Given the description of an element on the screen output the (x, y) to click on. 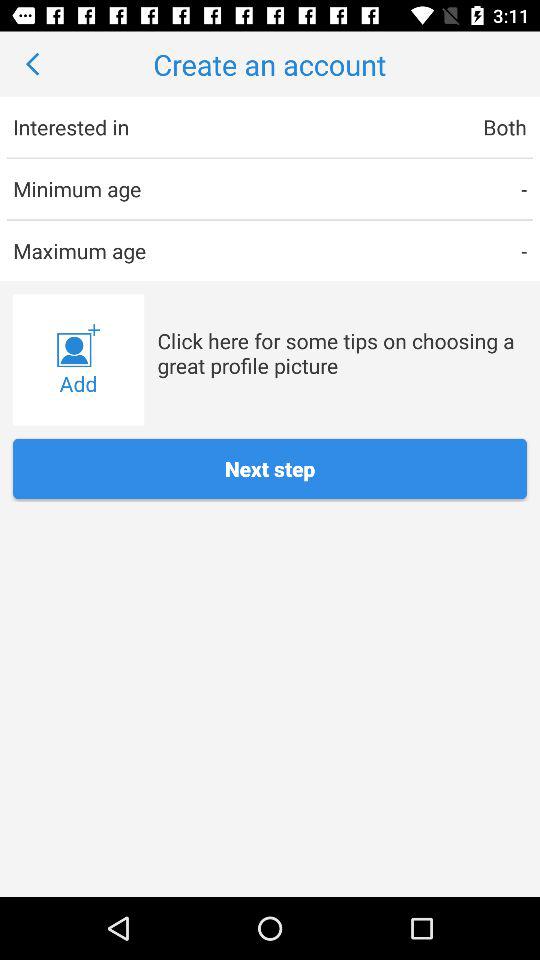
tap the item above next step icon (341, 352)
